Given the description of an element on the screen output the (x, y) to click on. 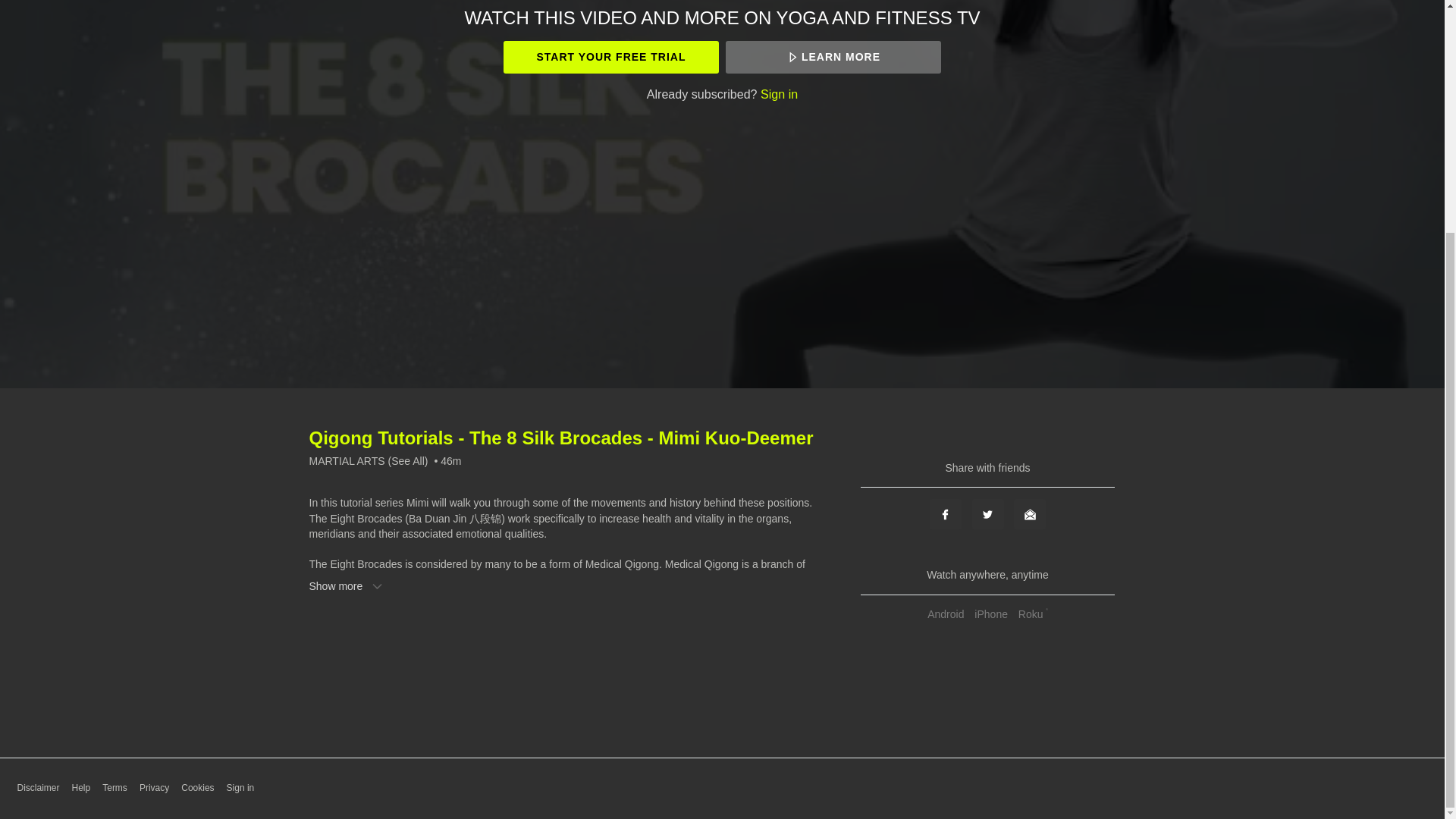
LEARN MORE (832, 56)
Disclaimer (37, 788)
Help (80, 788)
Twitter (988, 513)
START YOUR FREE TRIAL (610, 56)
Privacy (153, 788)
Sign in (240, 788)
Facebook (945, 513)
Terms (114, 788)
Email (1029, 513)
Cookies (197, 788)
Sign in (778, 93)
iPhone (991, 613)
Android (945, 613)
